Given the description of an element on the screen output the (x, y) to click on. 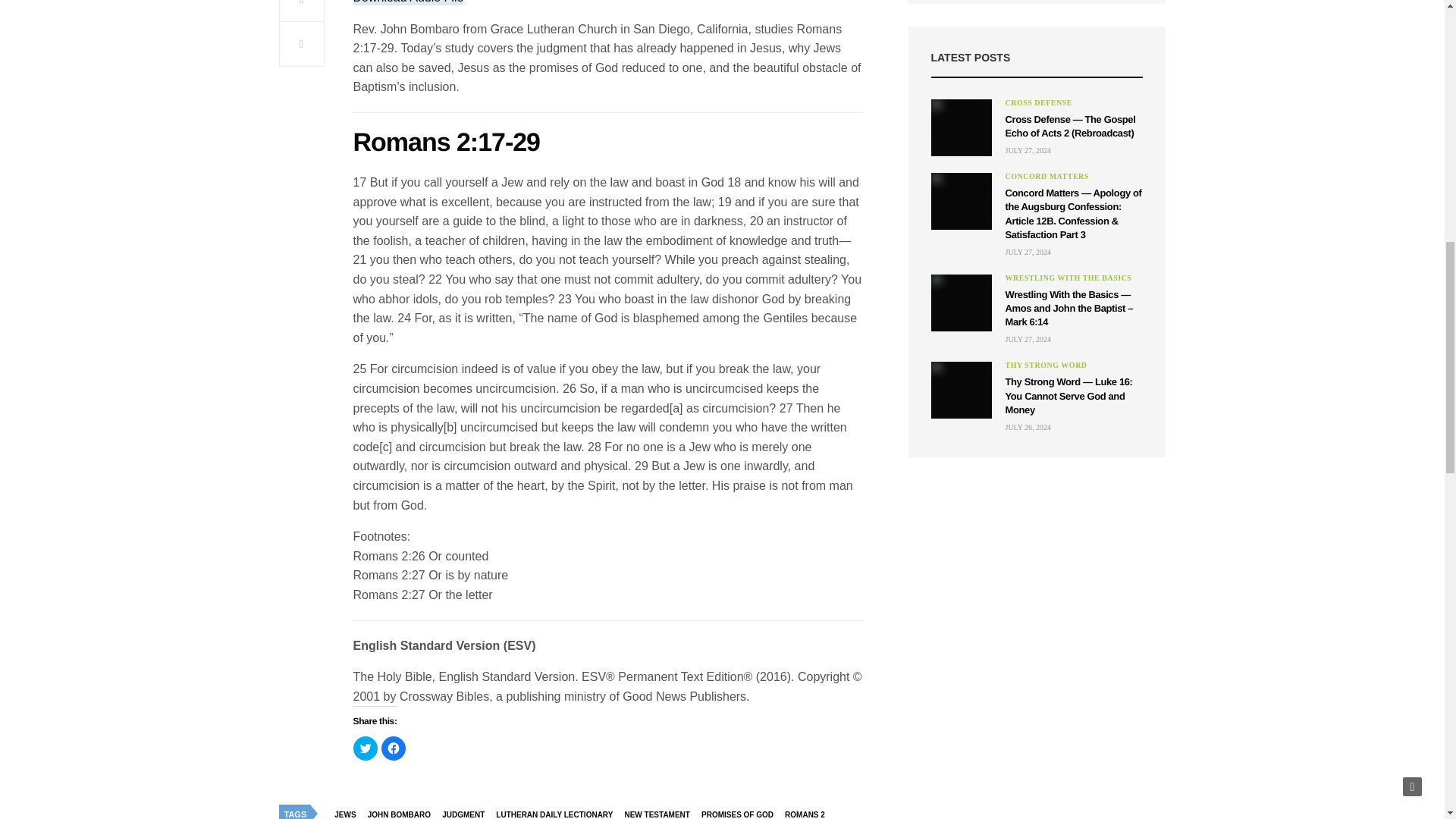
Click to share on Facebook (392, 748)
Click to share on Twitter (365, 748)
Cross Defense (1038, 103)
